Given the description of an element on the screen output the (x, y) to click on. 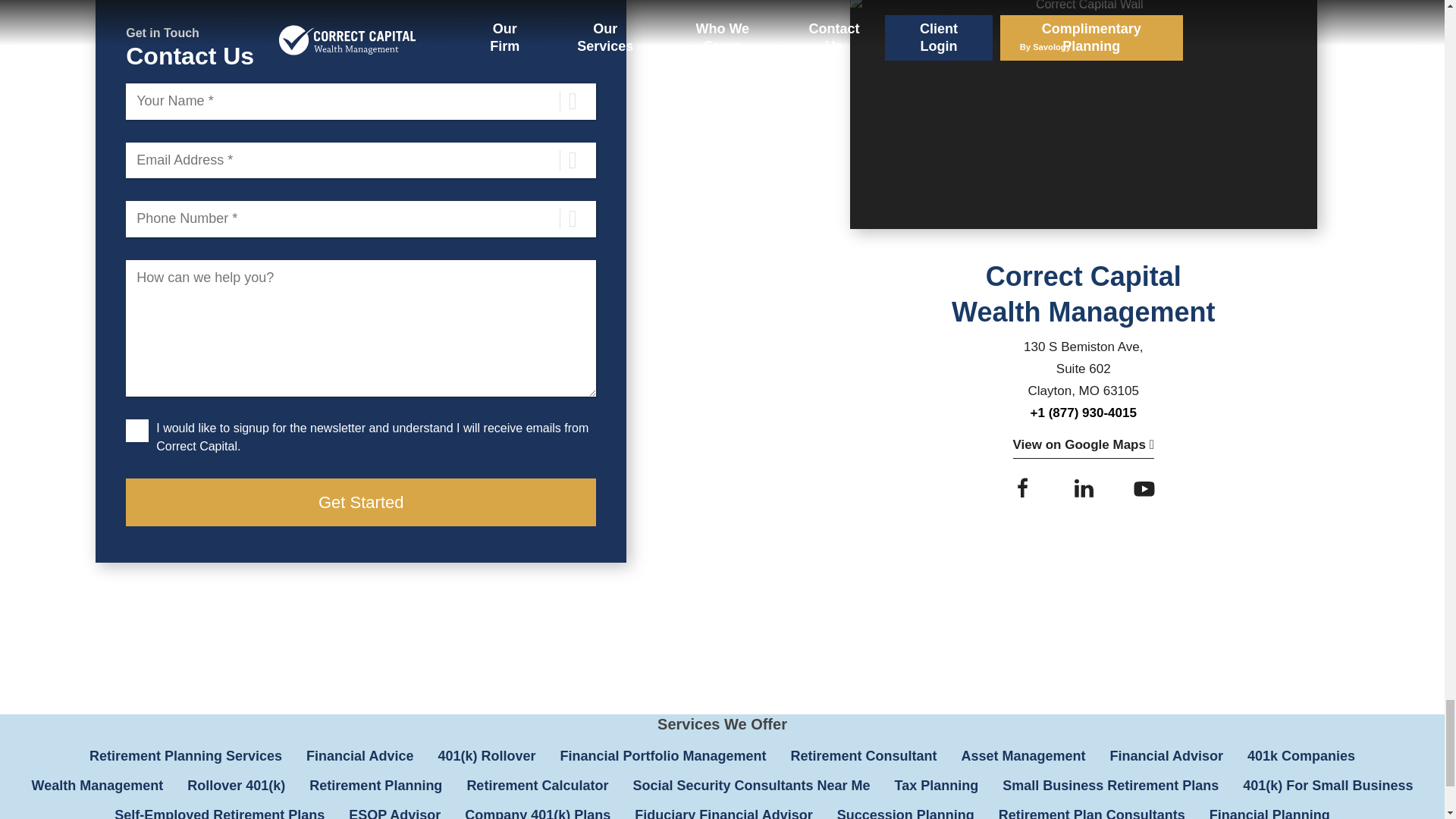
Get Started (360, 502)
